Given the description of an element on the screen output the (x, y) to click on. 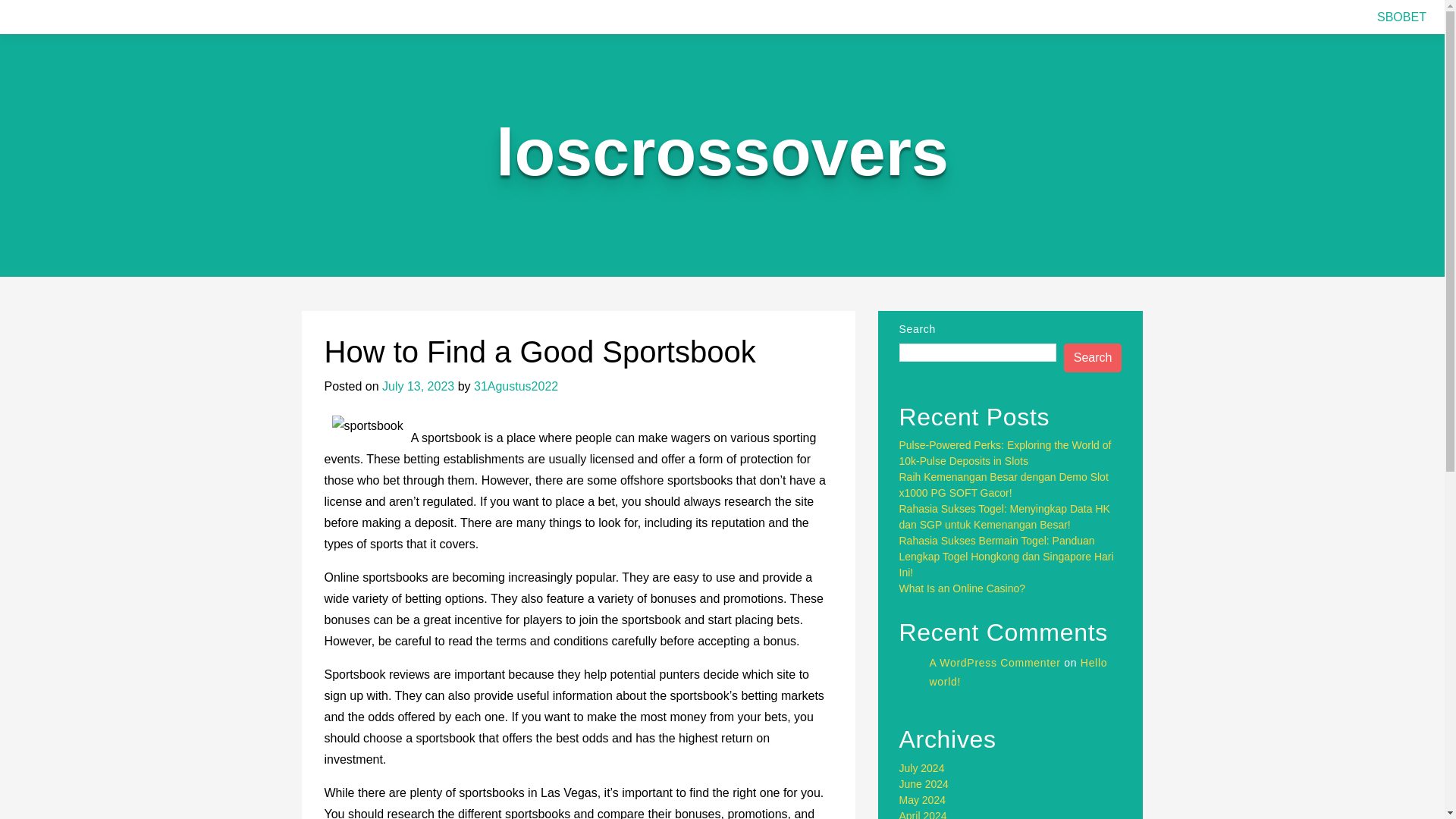
July 13, 2023 (417, 386)
June 2024 (924, 767)
August 2024 (929, 736)
April 2024 (923, 799)
SBOBET (1401, 16)
Hello world! (1019, 640)
31Agustus2022 (515, 386)
How to Play at a Casino Online (972, 540)
Search (1093, 357)
